Given the description of an element on the screen output the (x, y) to click on. 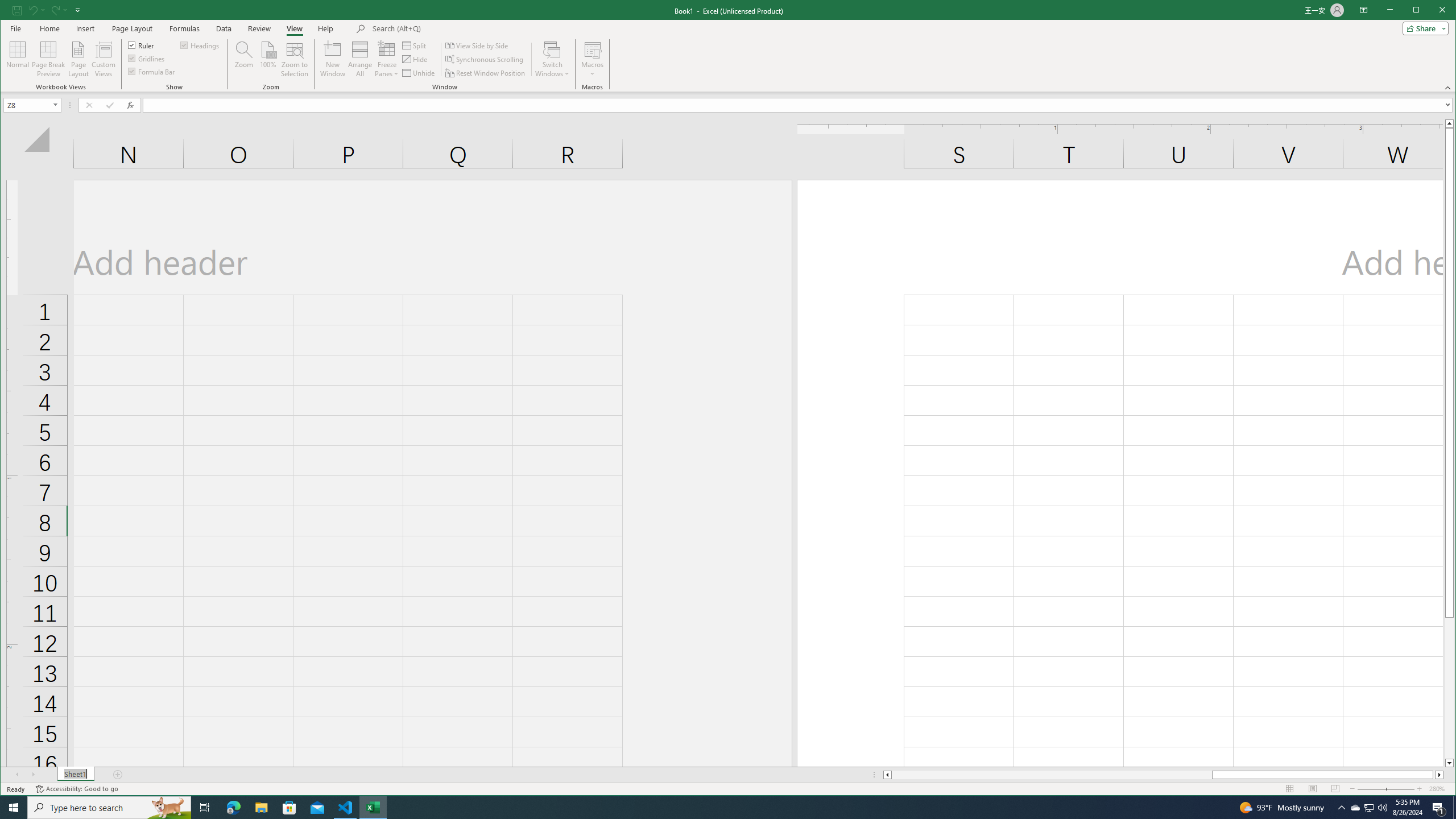
Start (13, 807)
Custom Views... (103, 59)
Show desktop (1454, 807)
Task View (204, 807)
Zoom... (243, 59)
